Given the description of an element on the screen output the (x, y) to click on. 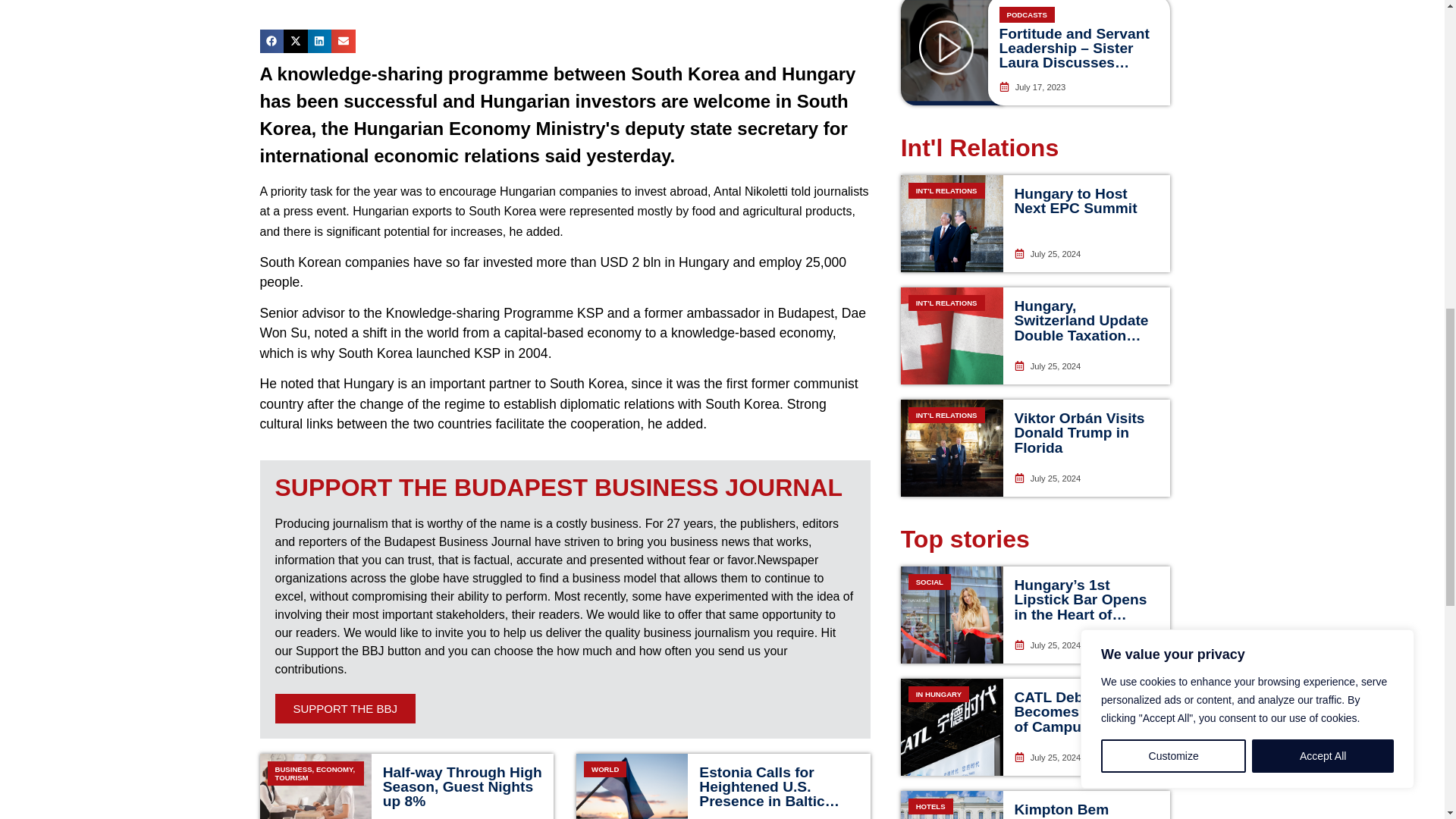
WORLD (631, 786)
SUPPORT THE BBJ (344, 708)
BUSINESS, ECONOMY, TOURISM (315, 786)
